Given the description of an element on the screen output the (x, y) to click on. 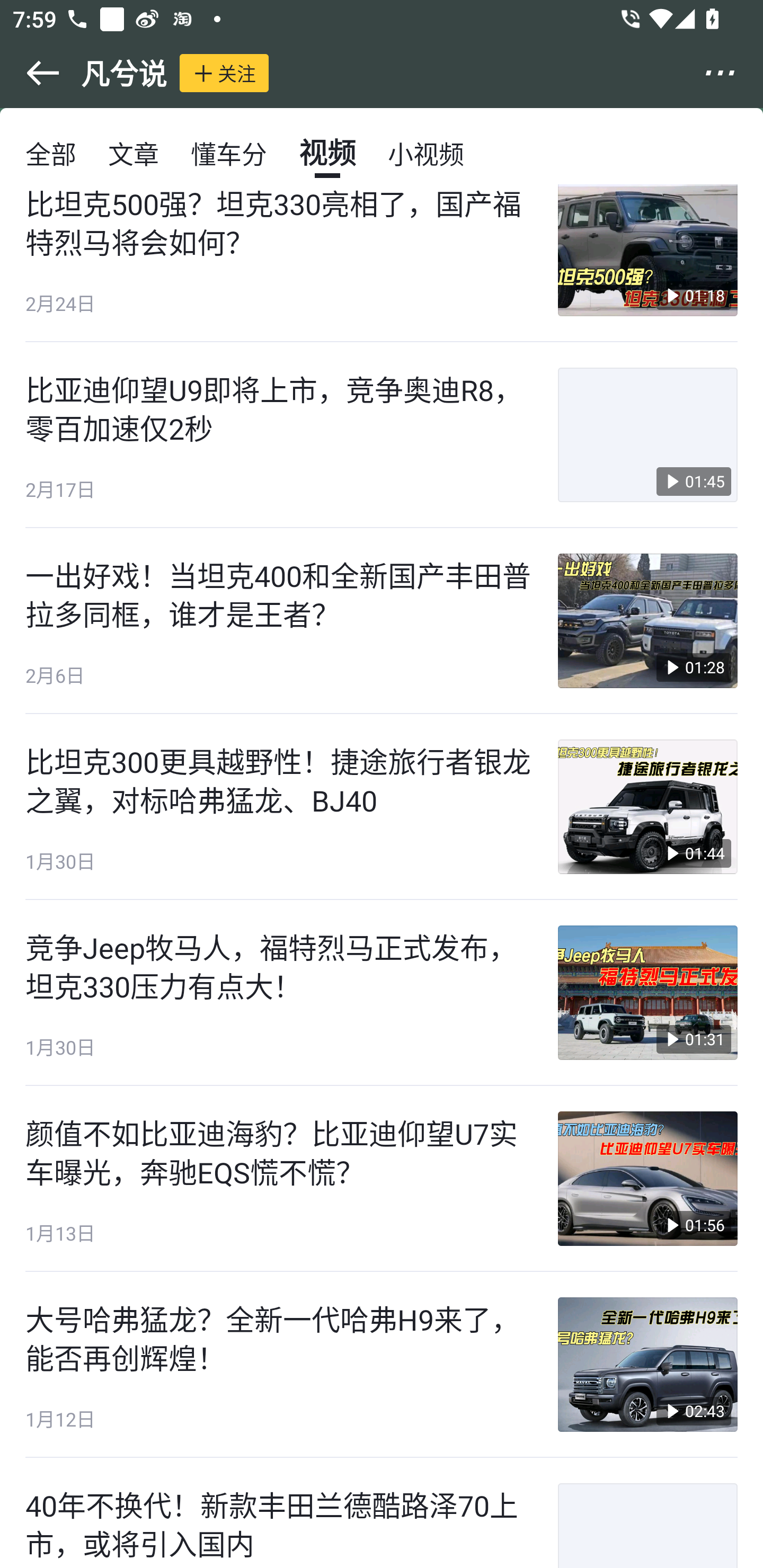
 (30, 72)
 (732, 72)
 关注 (223, 72)
全部 (50, 152)
文章 (133, 152)
懂车分 (228, 152)
视频 (327, 152)
小视频 (425, 152)
比坦克500强？坦克330亮相了，国产福特烈马将会如何？ 2月24日  01:18 (381, 263)
比亚迪仰望U9即将上市，竞争奥迪R8，零百加速仅2秒 2月17日  01:45 (381, 434)
一出好戏！当坦克400和全新国产丰田普拉多同框，谁才是王者？ 2月6日  01:28 (381, 620)
比坦克300更具越野性！捷途旅行者银龙之翼，对标哈弗猛龙、BJ40 1月30日  01:44 (381, 806)
竞争Jeep牧马人，福特烈马正式发布，坦克330压力有点大！ 1月30日  01:31 (381, 993)
颜值不如比亚迪海豹？比亚迪仰望U7实车曝光，奔驰EQS慌不慌？ 1月13日  01:56 (381, 1178)
大号哈弗猛龙？全新一代哈弗H9来了，能否再创辉煌！ 1月12日  02:43 (381, 1364)
40年不换代！新款丰田兰德酷路泽70上市，或将引入国内 (381, 1513)
